Given the description of an element on the screen output the (x, y) to click on. 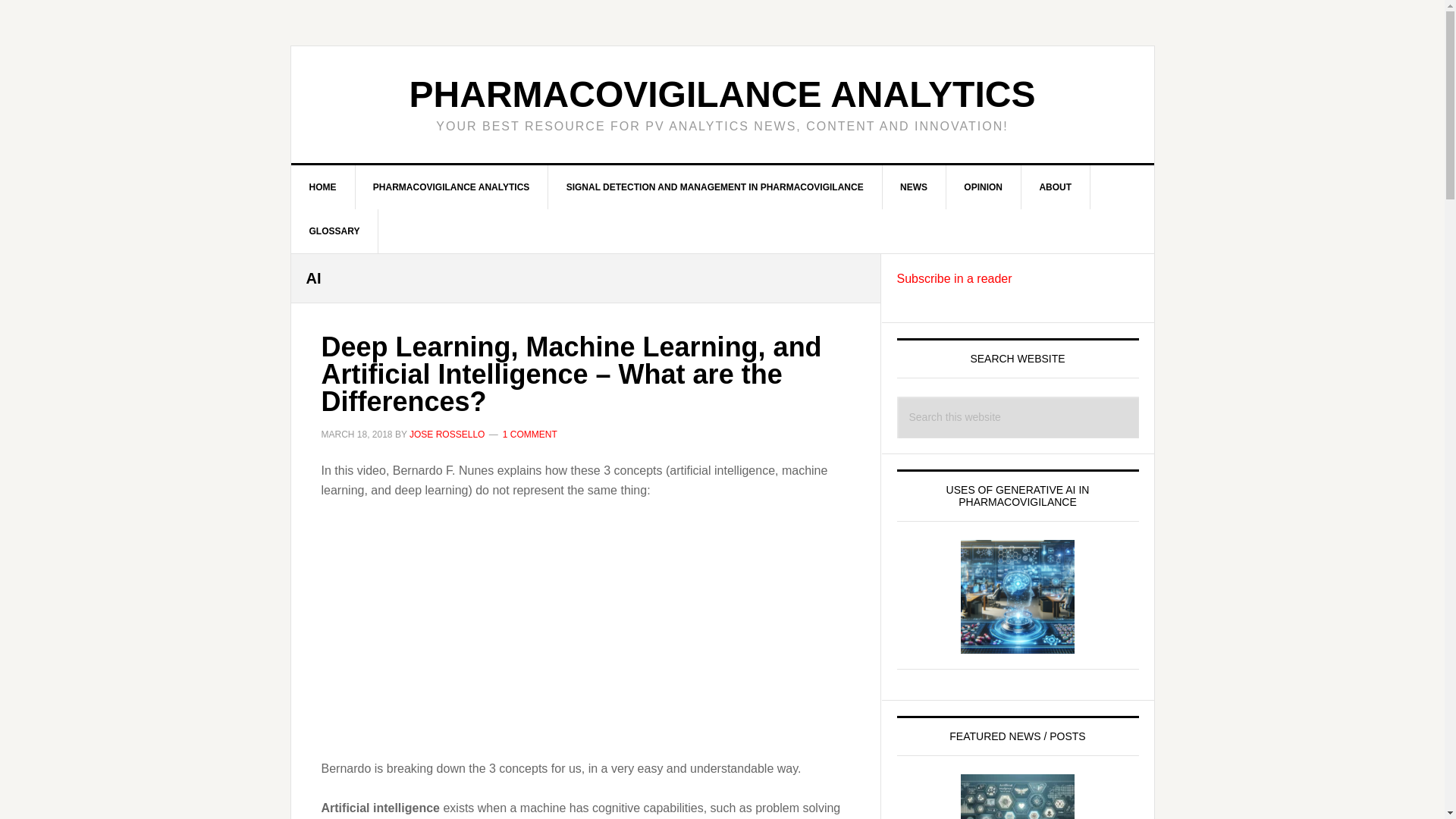
NEWS (914, 187)
OPINION (983, 187)
PHARMACOVIGILANCE ANALYTICS (722, 94)
PHARMACOVIGILANCE ANALYTICS (451, 187)
HOME (323, 187)
1 COMMENT (529, 434)
GLOSSARY (334, 231)
ABOUT (1055, 187)
JOSE ROSSELLO (446, 434)
Subscribe in a reader (953, 278)
SIGNAL DETECTION AND MANAGEMENT IN PHARMACOVIGILANCE (715, 187)
Subscribe to my feed (953, 278)
